Given the description of an element on the screen output the (x, y) to click on. 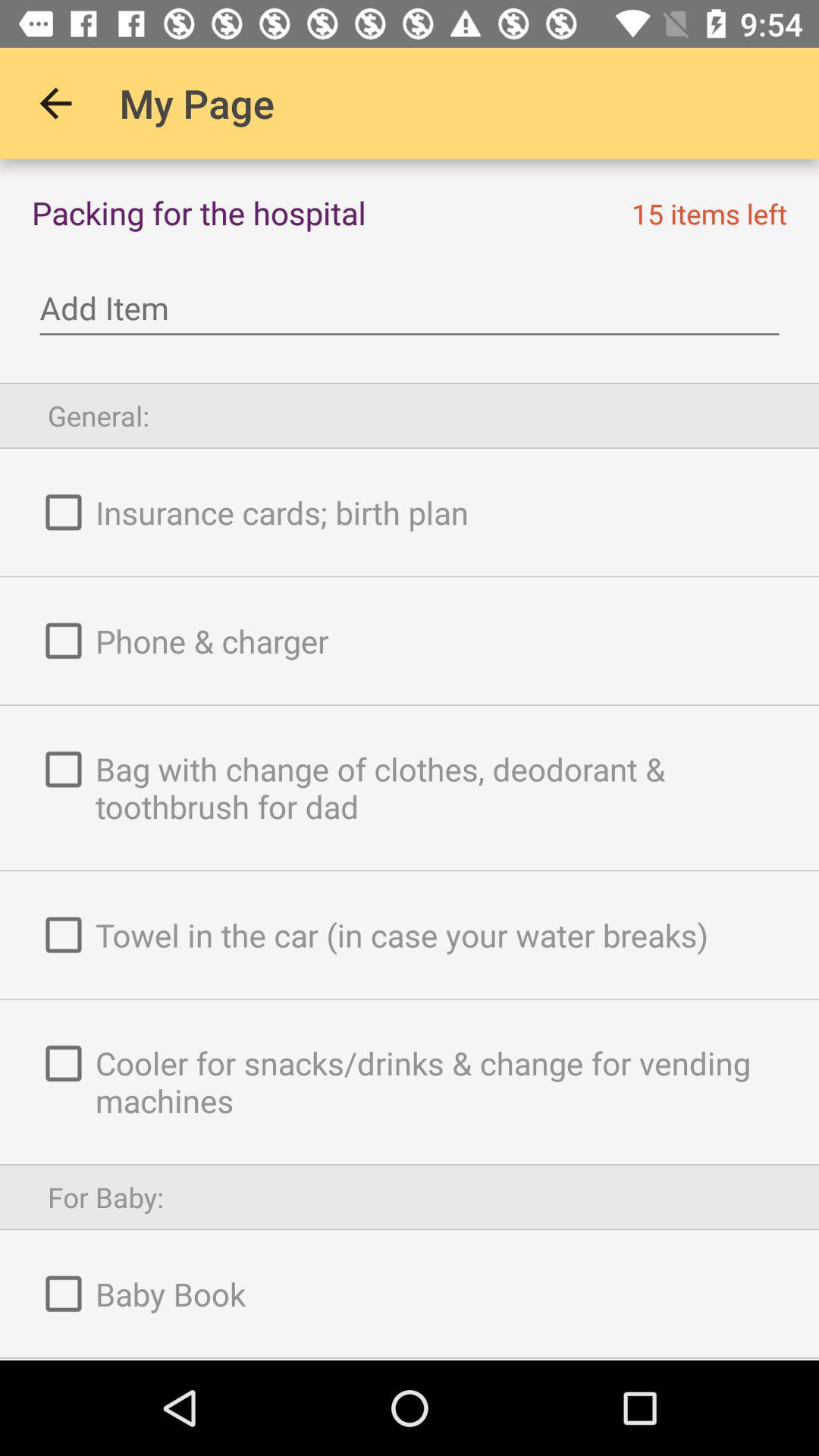
click on the third check box (63, 770)
click on the first check button (63, 512)
click on the fifth check box from the top (63, 1064)
